Given the description of an element on the screen output the (x, y) to click on. 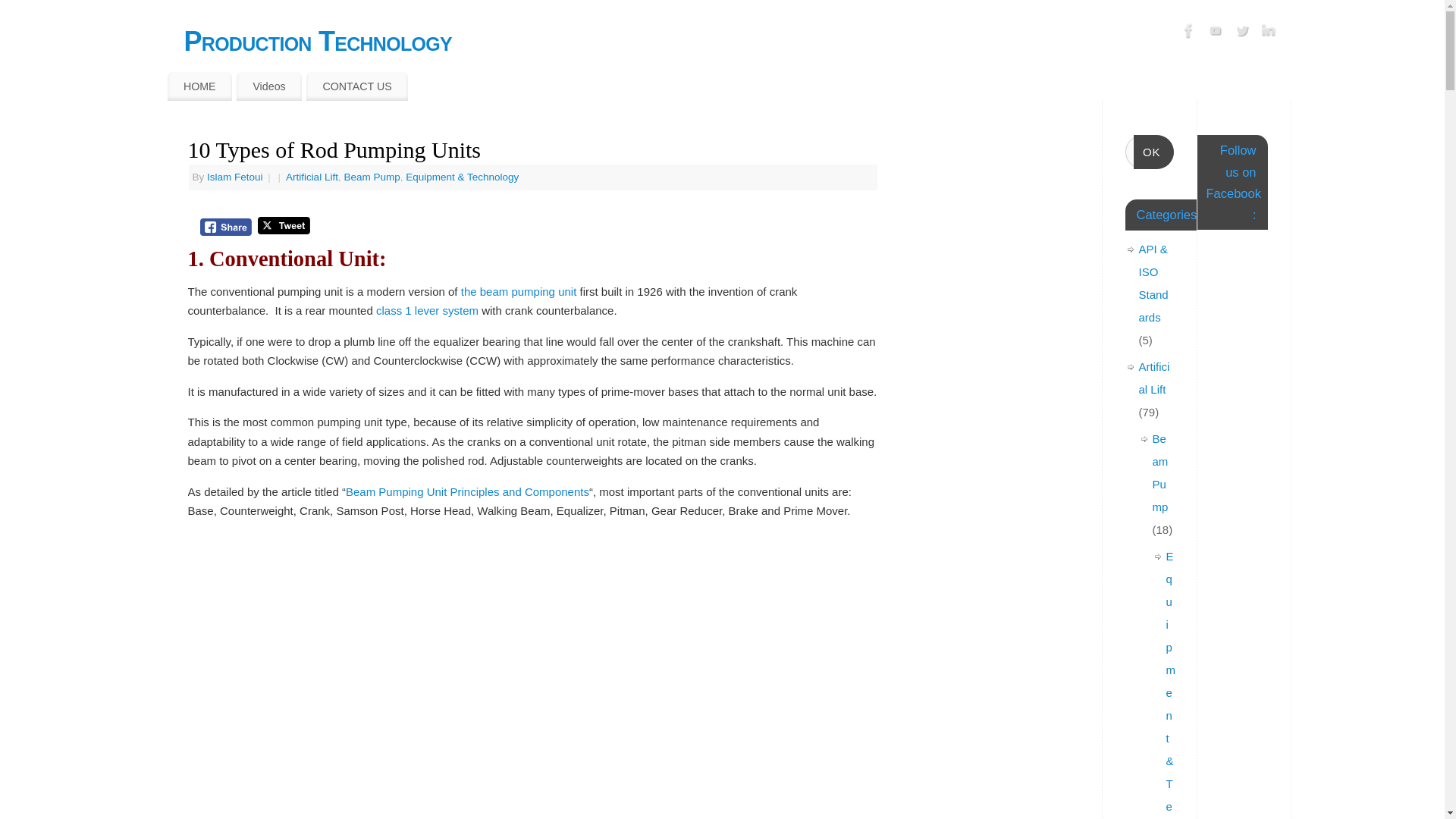
Islam Fetoui (234, 176)
Artificial Lift (311, 176)
Beam Pumping Unit Principles and Components (467, 491)
Production Technology (736, 41)
the beam pumping unit (518, 291)
Tweet (283, 225)
Facebook Share (225, 226)
Beam Pump (370, 176)
CONTACT US (356, 86)
Videos (268, 86)
HOME (199, 86)
Production Technology (736, 41)
class 1 lever system (427, 309)
View all posts by Islam Fetoui (234, 176)
